Given the description of an element on the screen output the (x, y) to click on. 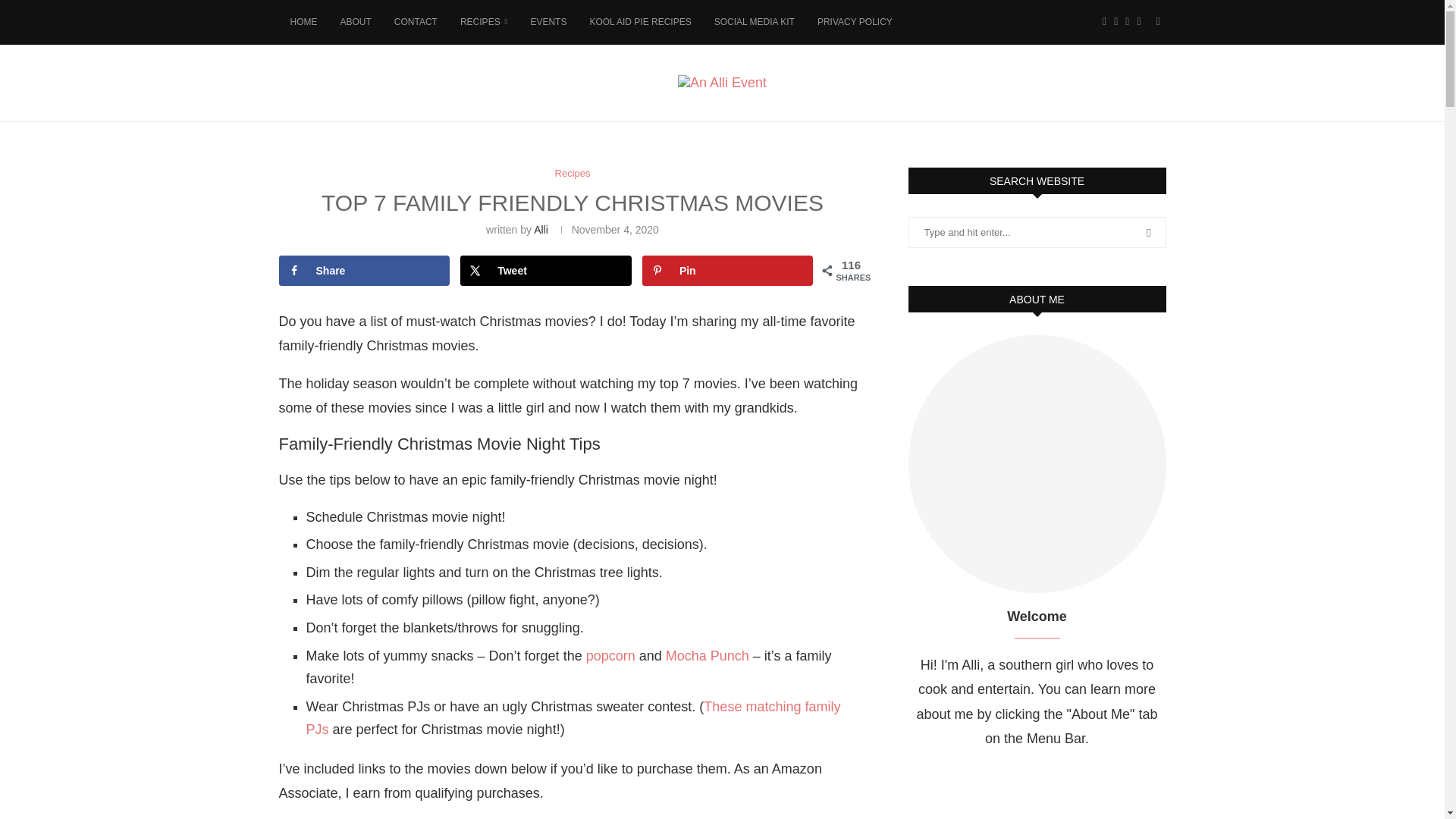
Tweet (545, 269)
RECIPES (483, 22)
HOME (304, 22)
popcorn (610, 655)
Recipes (572, 173)
Mocha Punch (707, 655)
Share (364, 269)
Save to Pinterest (727, 269)
Share on Facebook (364, 269)
These matching family PJs (573, 718)
Alli (541, 228)
CONTACT (415, 22)
ABOUT (355, 22)
Pin (727, 269)
PRIVACY POLICY (855, 22)
